Given the description of an element on the screen output the (x, y) to click on. 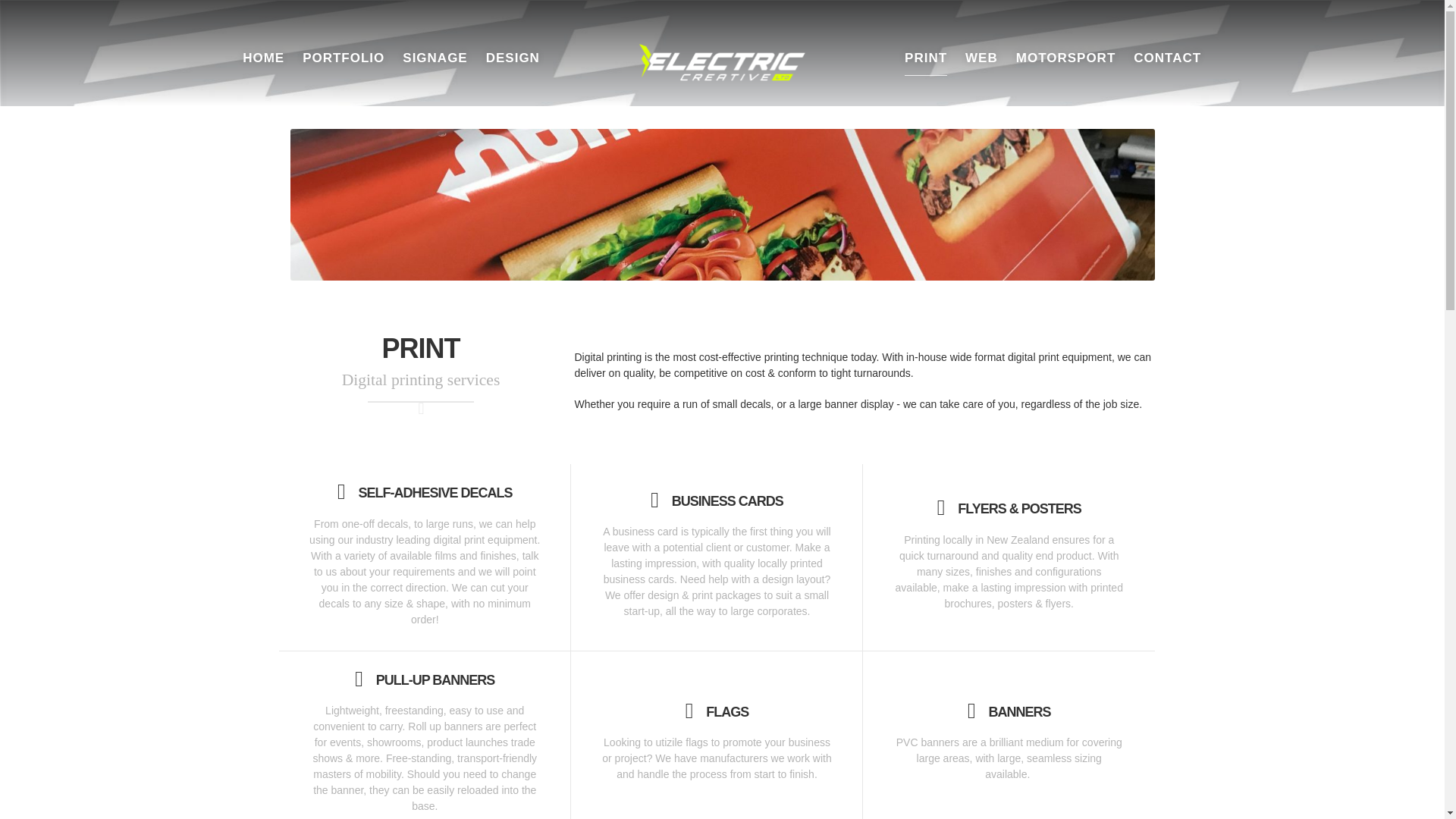
PRINT (1117, 58)
WEB (1139, 58)
DESIGN (259, 58)
MOTORSPORT (1207, 58)
SIGNAGE (135, 58)
CONTACT (1281, 58)
PORTFOLIO (29, 58)
